Given the description of an element on the screen output the (x, y) to click on. 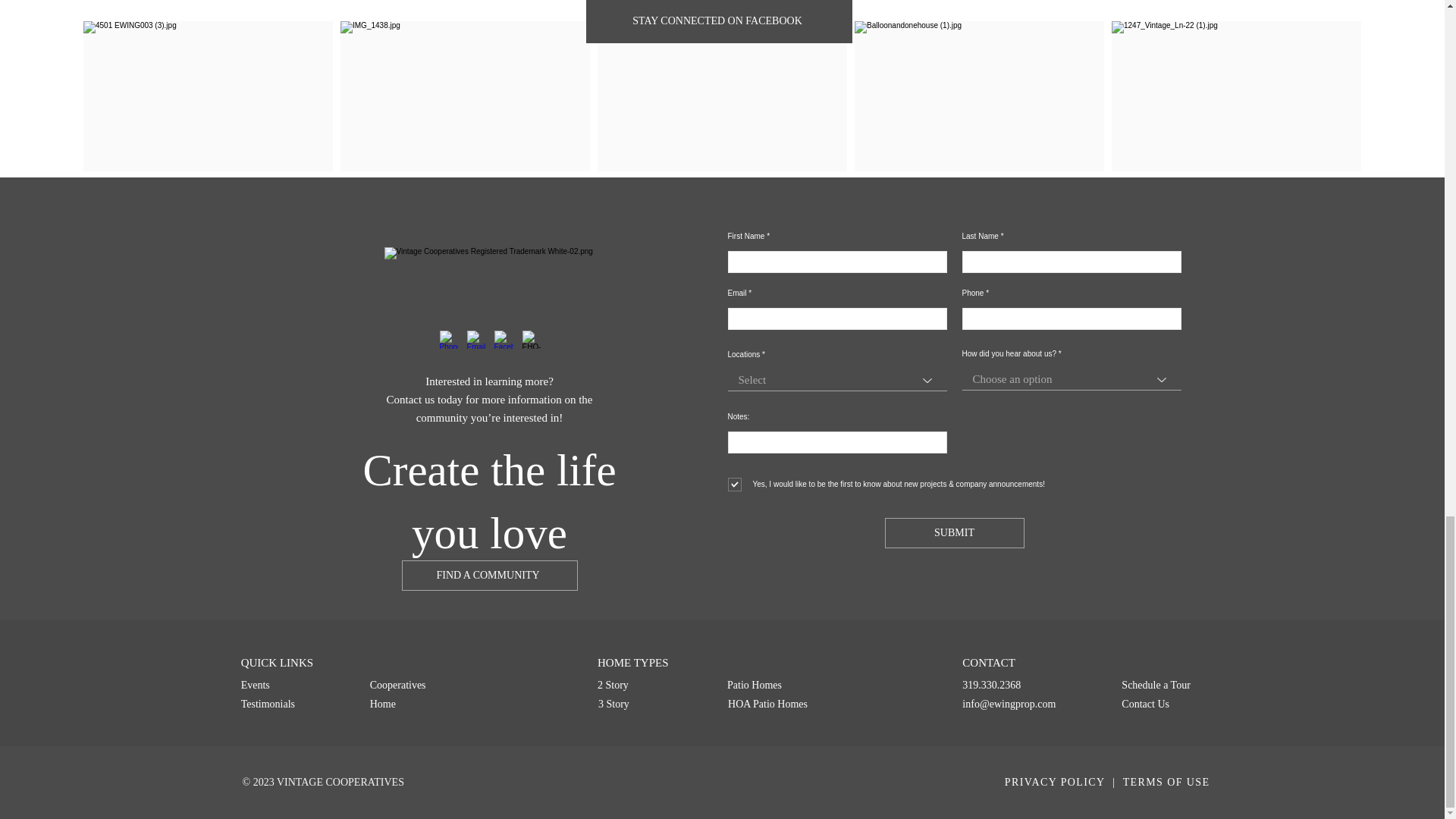
PRIVACY POLICY (1054, 781)
Patio Homes (781, 684)
CONTACT (1032, 662)
Contact Us (1167, 703)
2 Story (651, 684)
3 Story (652, 703)
Cooperatives (416, 684)
TERMS OF USE (1164, 781)
Schedule a Tour (1167, 684)
HOA Patio Homes (783, 703)
Testimonials (295, 703)
319.330.2368 (1016, 684)
Events (295, 684)
Home (416, 703)
